Given the description of an element on the screen output the (x, y) to click on. 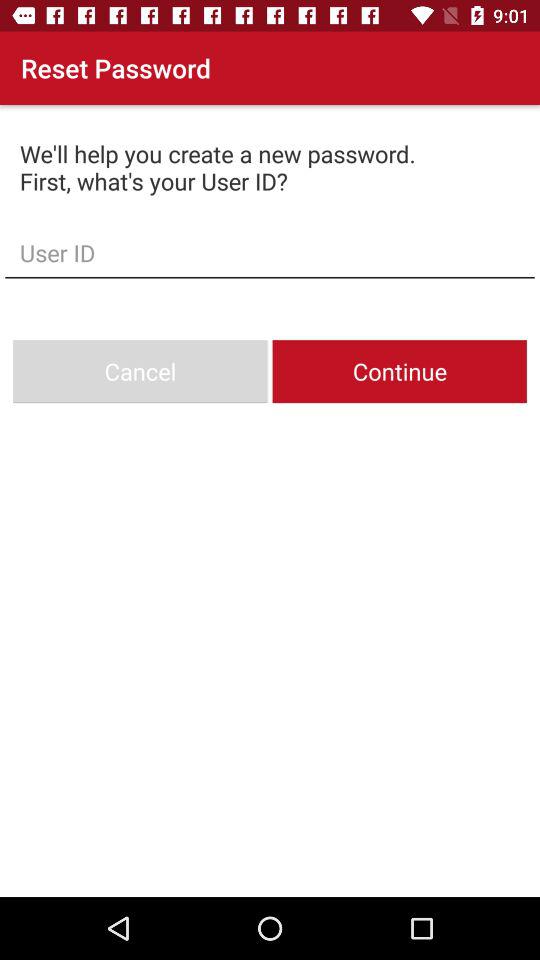
press icon on the right (399, 371)
